Given the description of an element on the screen output the (x, y) to click on. 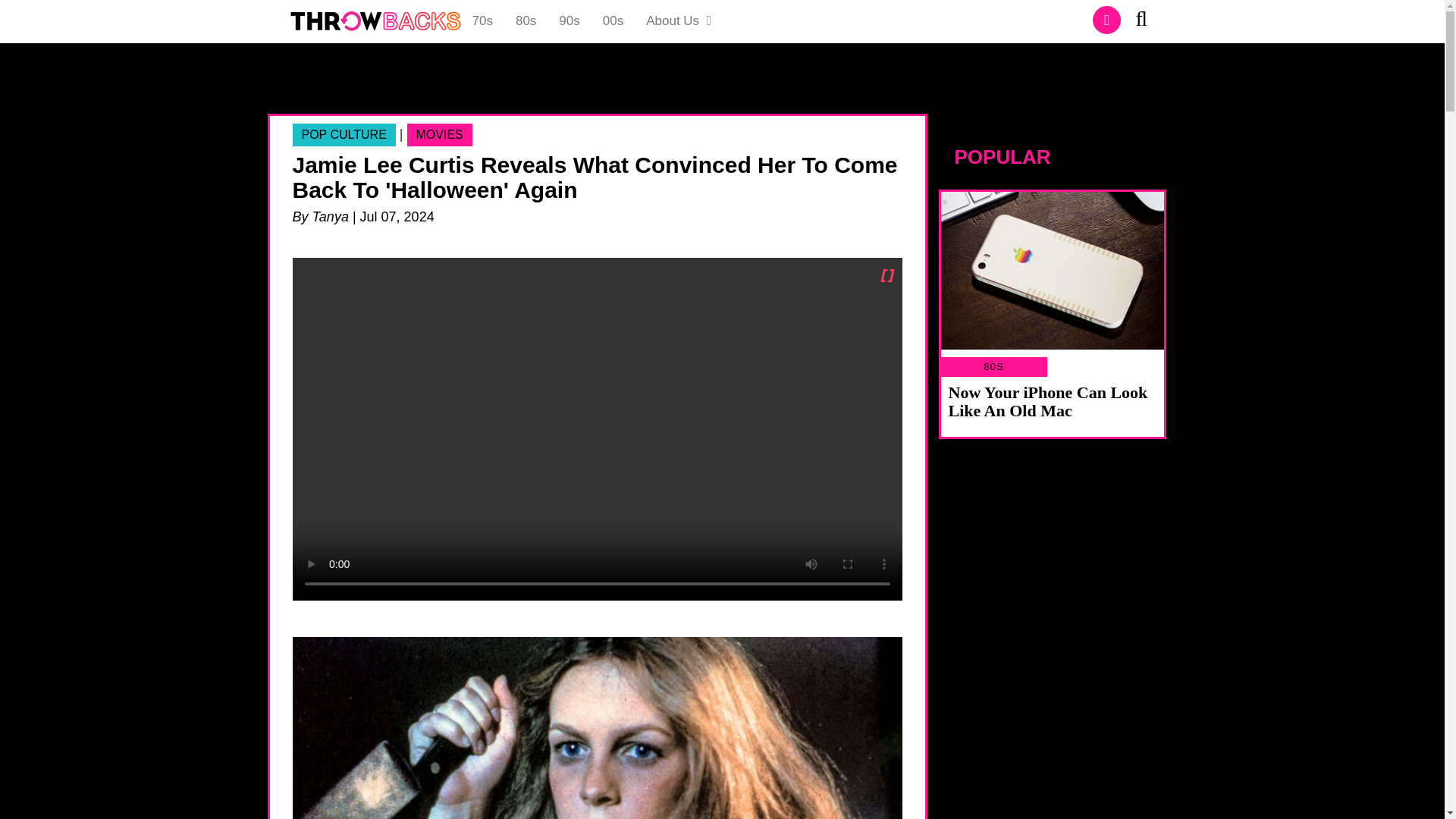
facebook (1107, 19)
POP CULTURE (344, 134)
00s (612, 21)
70s (482, 21)
MOVIES (439, 134)
90s (569, 21)
About Us (679, 21)
Tanya's Profile (331, 216)
Search (1147, 21)
Tanya (331, 216)
80s (525, 21)
